Given the description of an element on the screen output the (x, y) to click on. 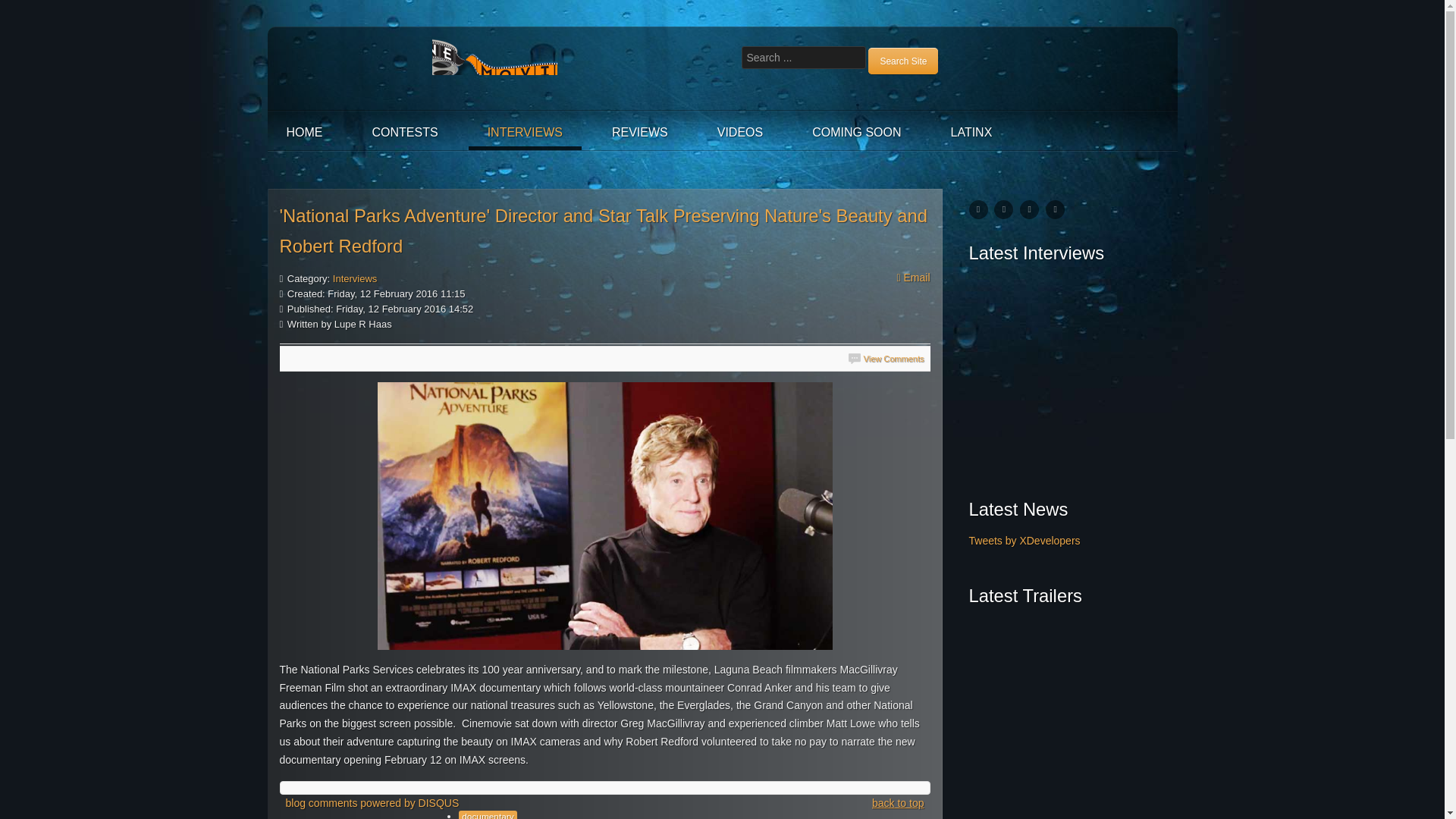
Interviews (355, 278)
COMING SOON (856, 131)
Tweets by XDevelopers (1024, 540)
Search Site (902, 60)
View Comments (886, 358)
Email this link to a friend (913, 277)
back to top (898, 803)
CONTESTS (405, 131)
LATINX (971, 131)
VIDEOS (739, 131)
REVIEWS (639, 131)
blog comments powered by DISQUS (371, 803)
Email (913, 277)
HOME (303, 131)
